Given the description of an element on the screen output the (x, y) to click on. 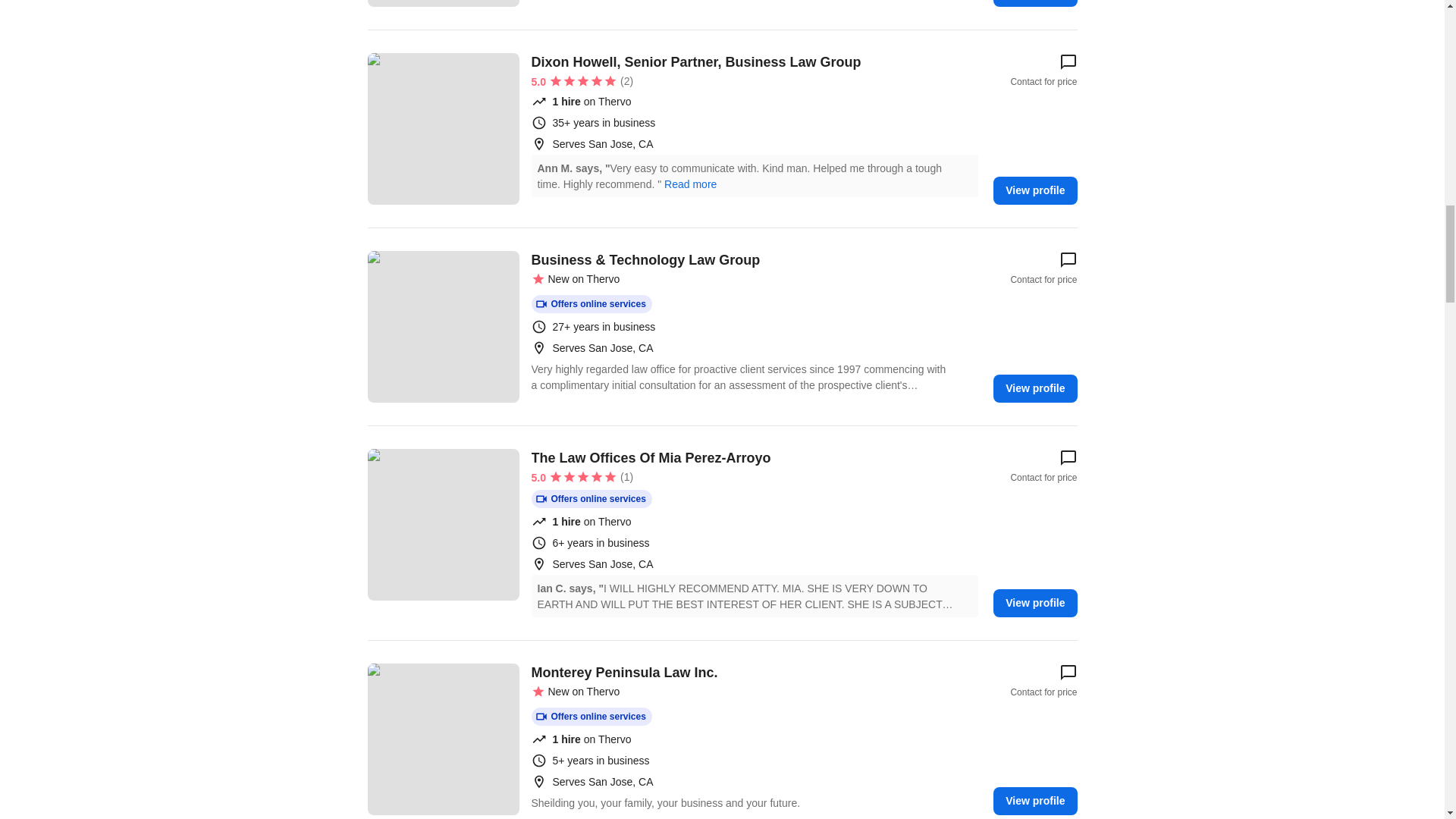
Monterey Peninsula Law Inc. (442, 738)
The Law Offices Of Mia Perez-Arroyo (442, 524)
Connect with this therapist via an online session. (590, 498)
Dixon Howell, Senior Partner, Business Law Group (442, 128)
Connect with this therapist via an online session. (590, 716)
Law Office Of Lina Baroudi - Immigration Attorney (442, 3)
View profile (1034, 3)
Connect with this therapist via an online session. (590, 303)
